Given the description of an element on the screen output the (x, y) to click on. 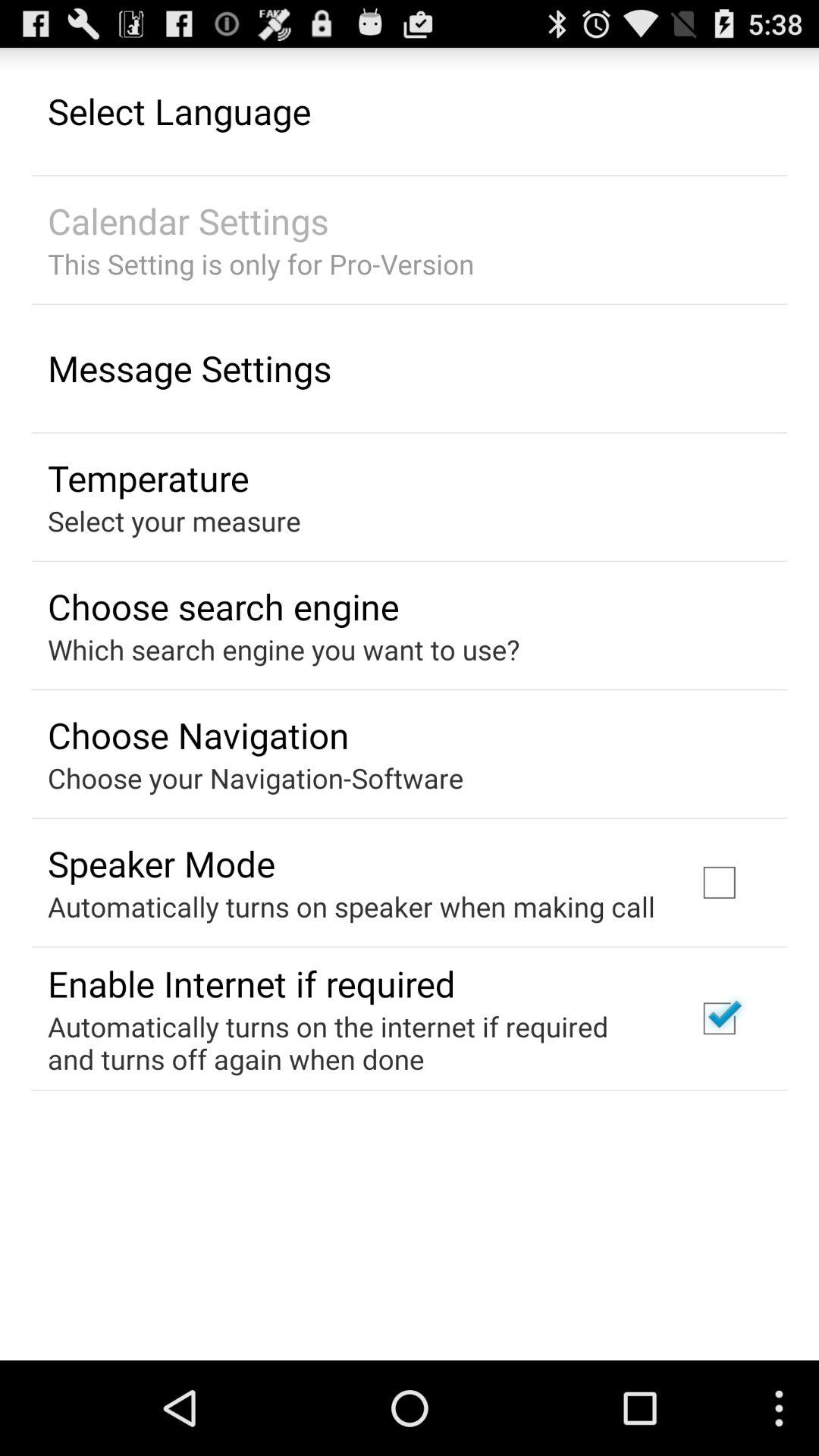
swipe until the temperature app (148, 477)
